Given the description of an element on the screen output the (x, y) to click on. 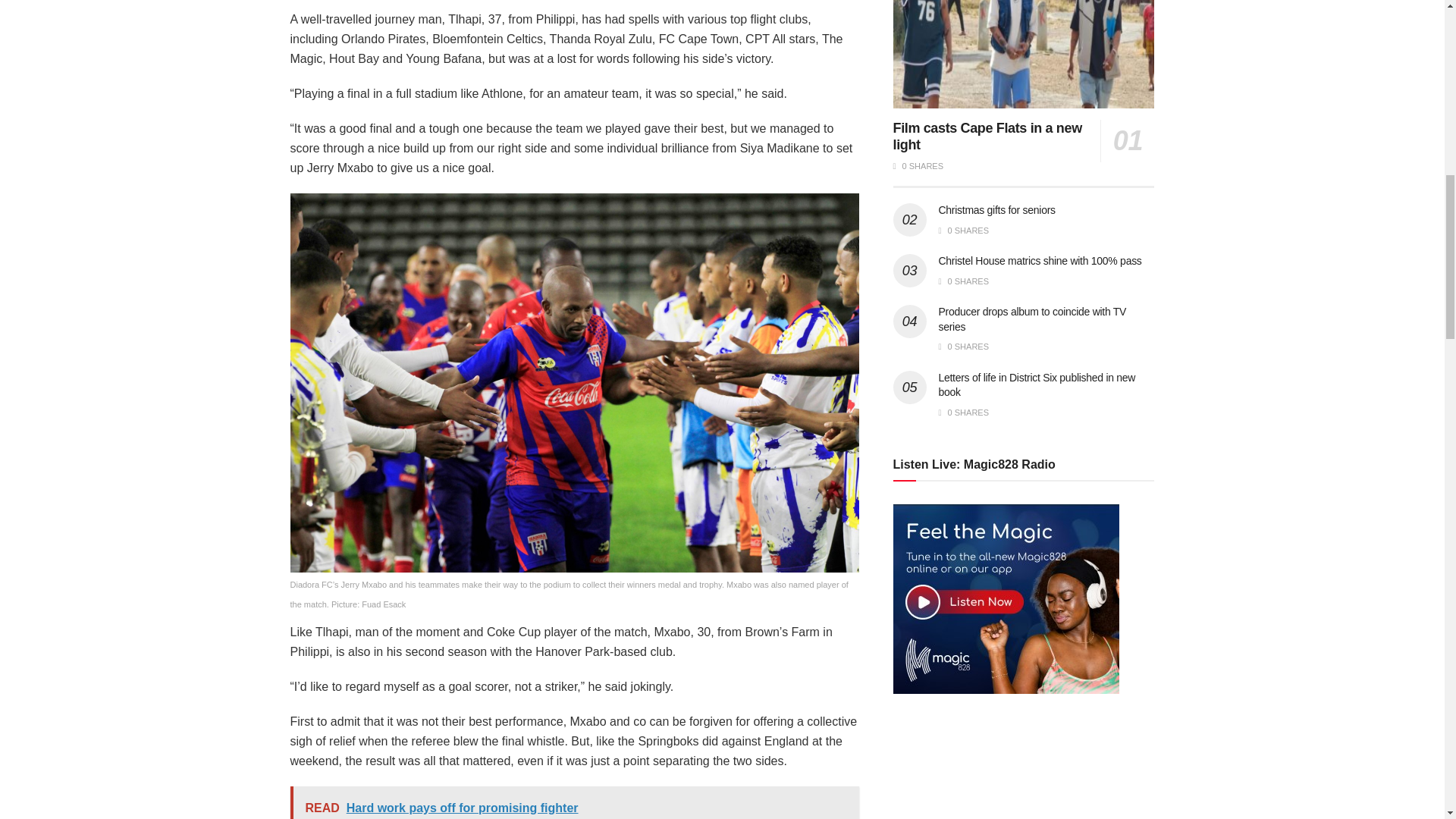
READ  Hard work pays off for promising fighter (574, 802)
3rd party ad content (1007, 771)
